Given the description of an element on the screen output the (x, y) to click on. 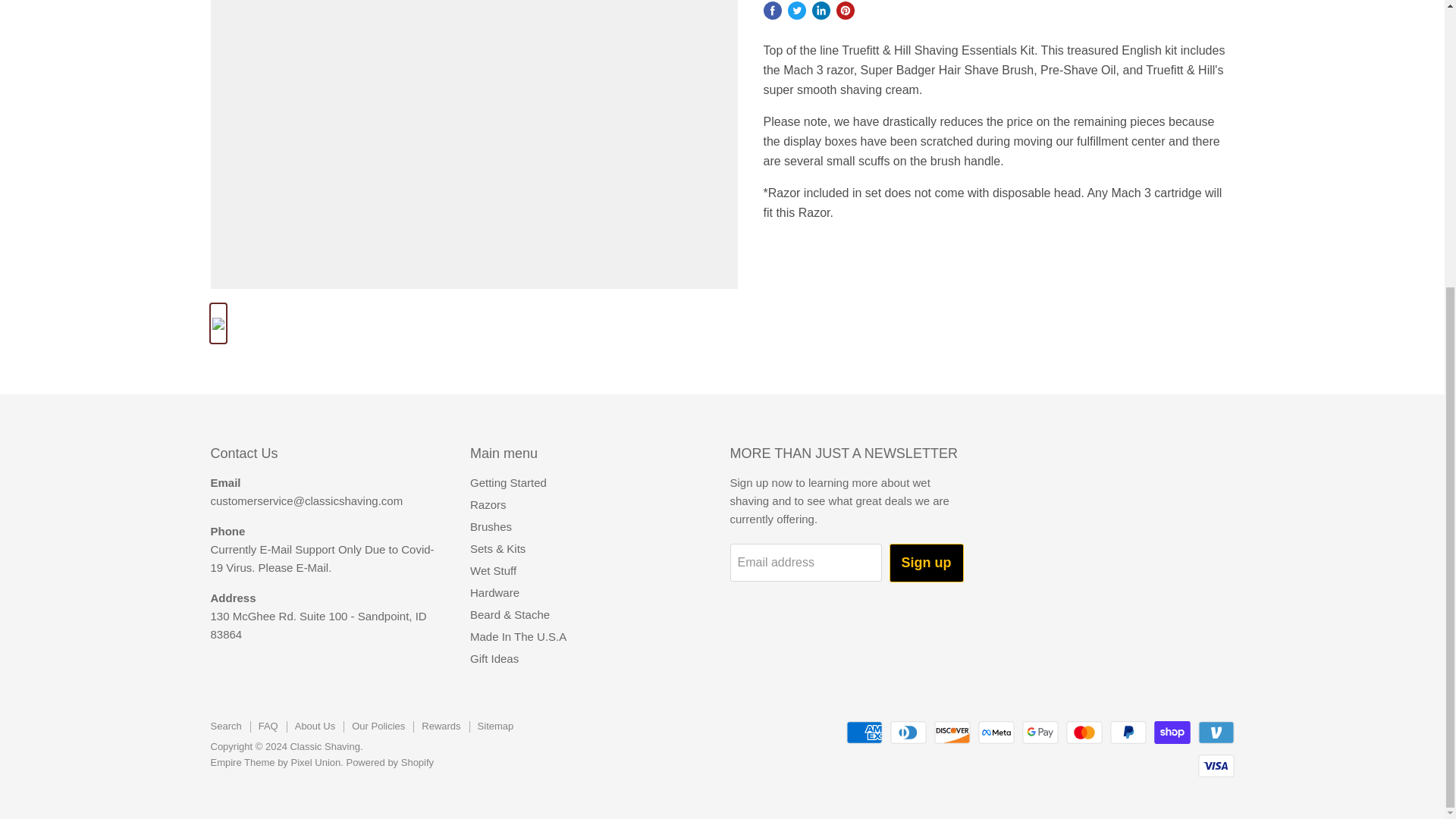
Diners Club (907, 732)
Discover (952, 732)
American Express (863, 732)
